Given the description of an element on the screen output the (x, y) to click on. 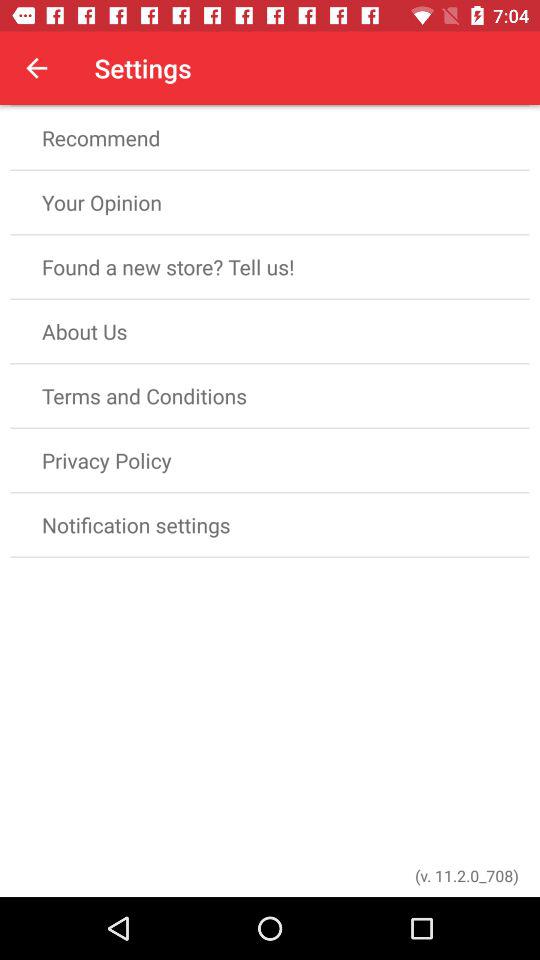
turn off about us item (269, 331)
